Given the description of an element on the screen output the (x, y) to click on. 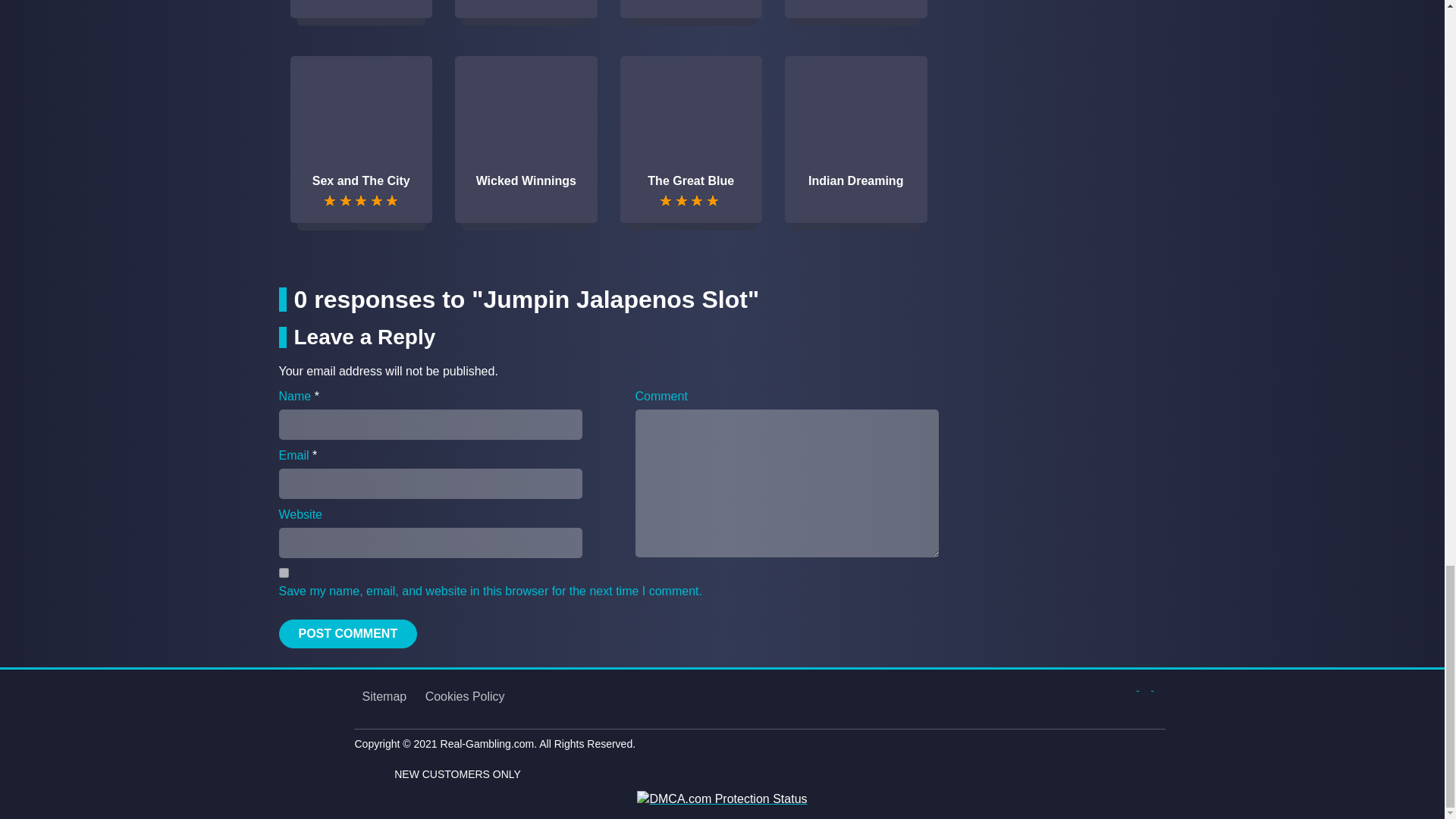
DMCA.com Protection Status (721, 797)
Post Comment (348, 634)
yes (283, 573)
